Given the description of an element on the screen output the (x, y) to click on. 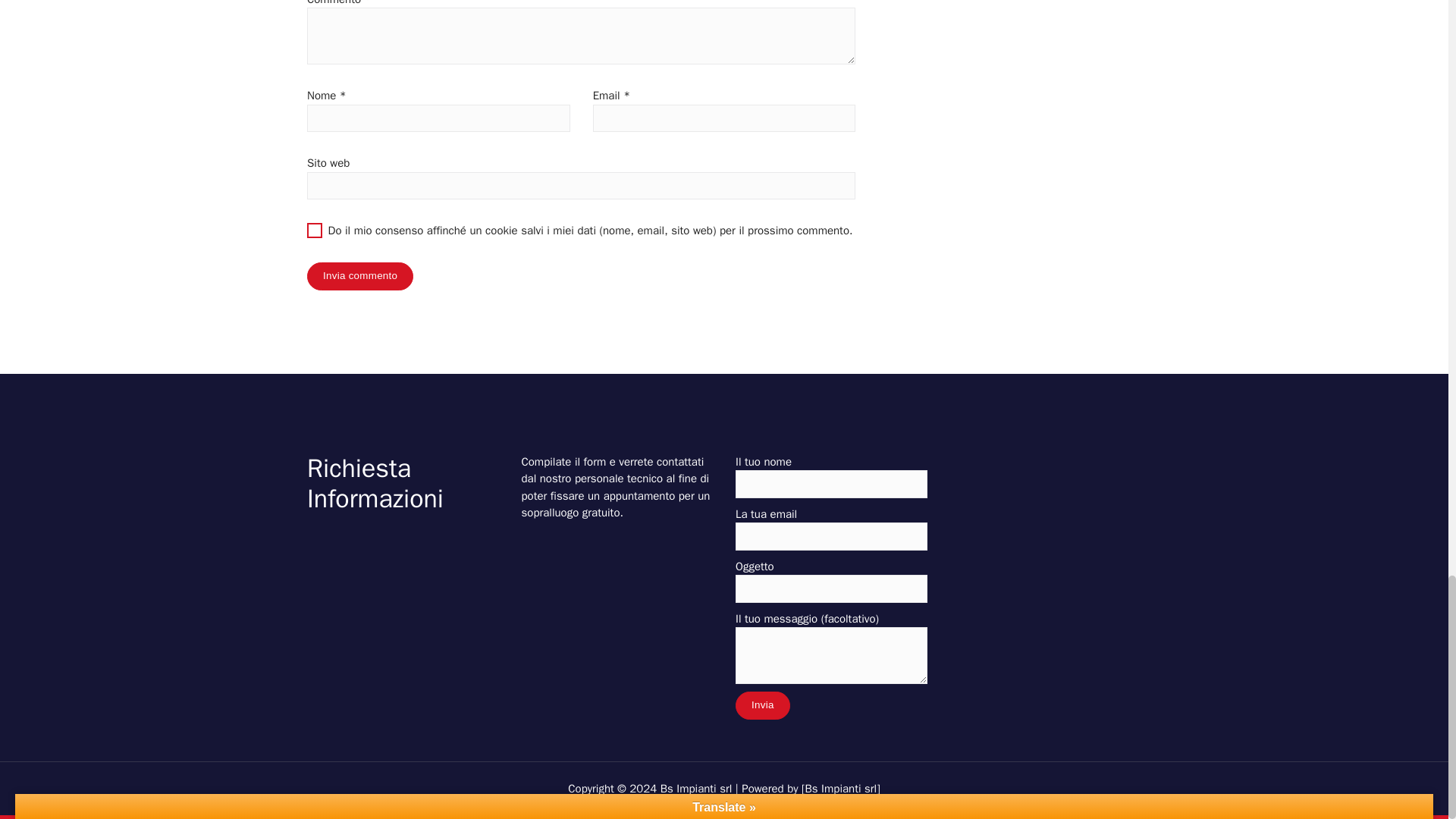
yes (314, 230)
Invia commento (360, 276)
Invia (762, 705)
